Given the description of an element on the screen output the (x, y) to click on. 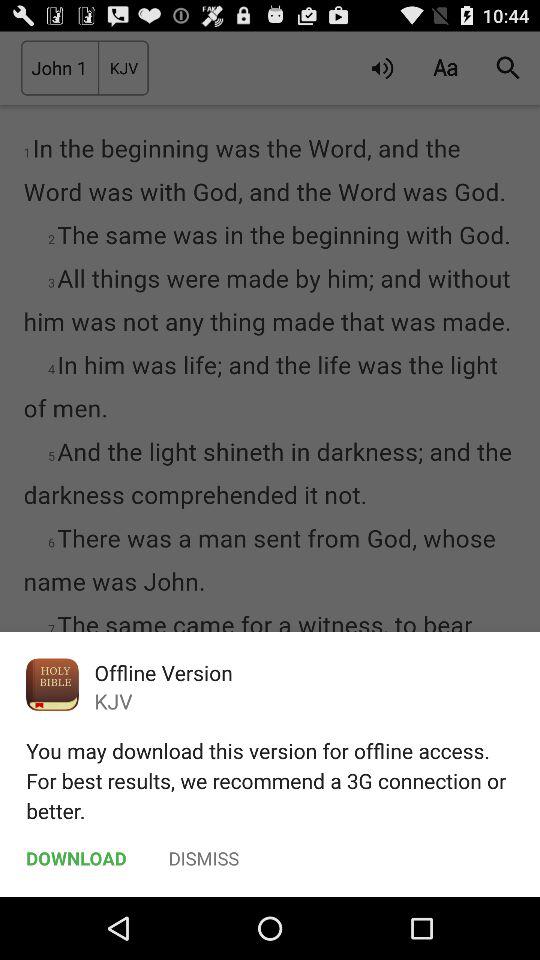
press the dismiss (203, 858)
